Given the description of an element on the screen output the (x, y) to click on. 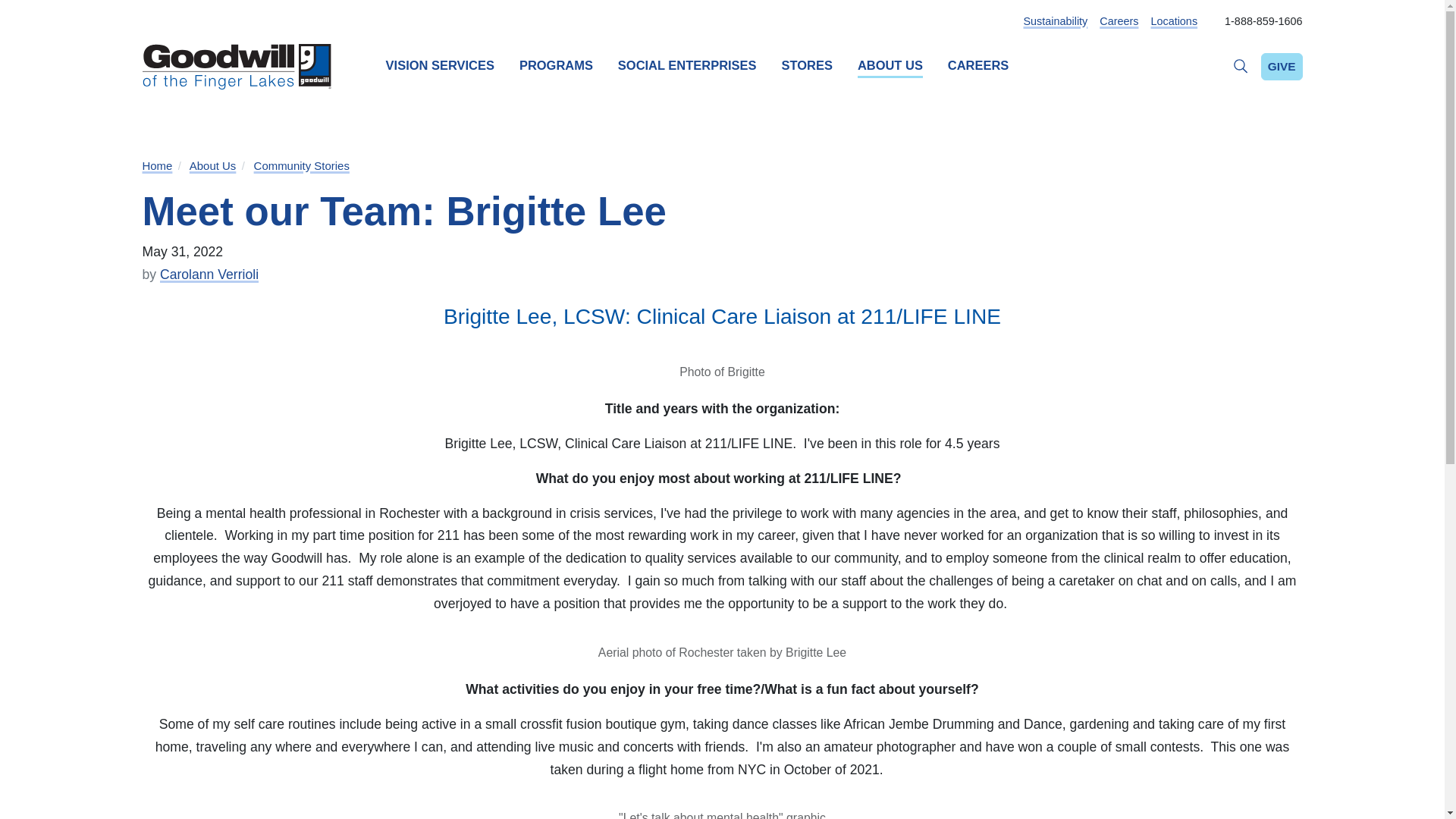
Locations (1173, 21)
Careers (1118, 21)
CAREERS (978, 65)
SOCIAL ENTERPRISES (687, 65)
Sustainability (1055, 21)
STORES (806, 65)
PROGRAMS (555, 65)
VISION SERVICES (440, 65)
ABOUT US (890, 65)
